Given the description of an element on the screen output the (x, y) to click on. 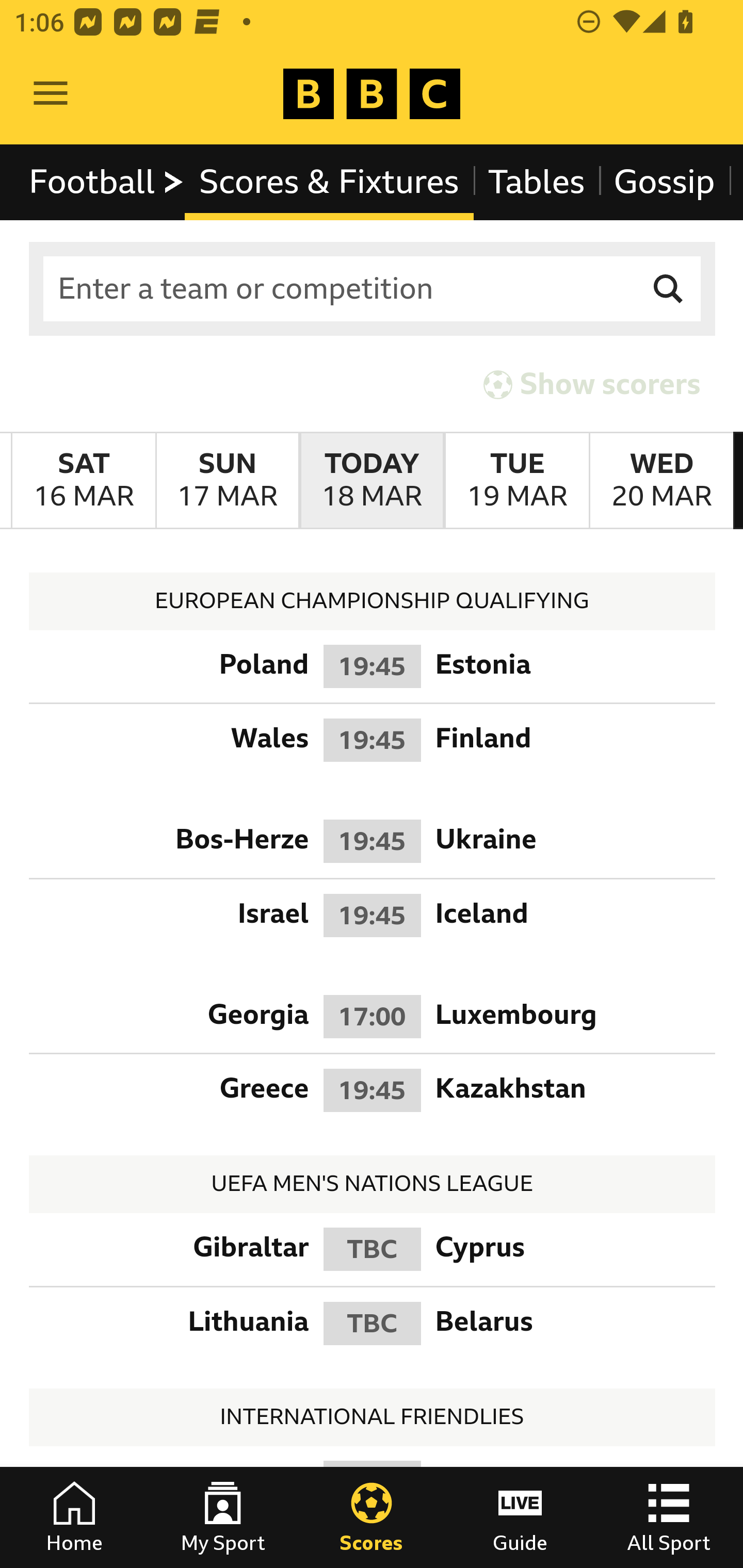
Open Menu (50, 93)
Football  (106, 181)
Scores & Fixtures (329, 181)
Tables (536, 181)
Gossip (664, 181)
Search (669, 289)
Show scorers (591, 383)
SaturdayMarch 16th Saturday March 16th (83, 480)
SundayMarch 17th Sunday March 17th (227, 480)
TodayMarch 18th Today March 18th (371, 480)
TuesdayMarch 19th Tuesday March 19th (516, 480)
WednesdayMarch 20th Wednesday March 20th (661, 480)
Home (74, 1517)
My Sport (222, 1517)
Guide (519, 1517)
All Sport (668, 1517)
